Given the description of an element on the screen output the (x, y) to click on. 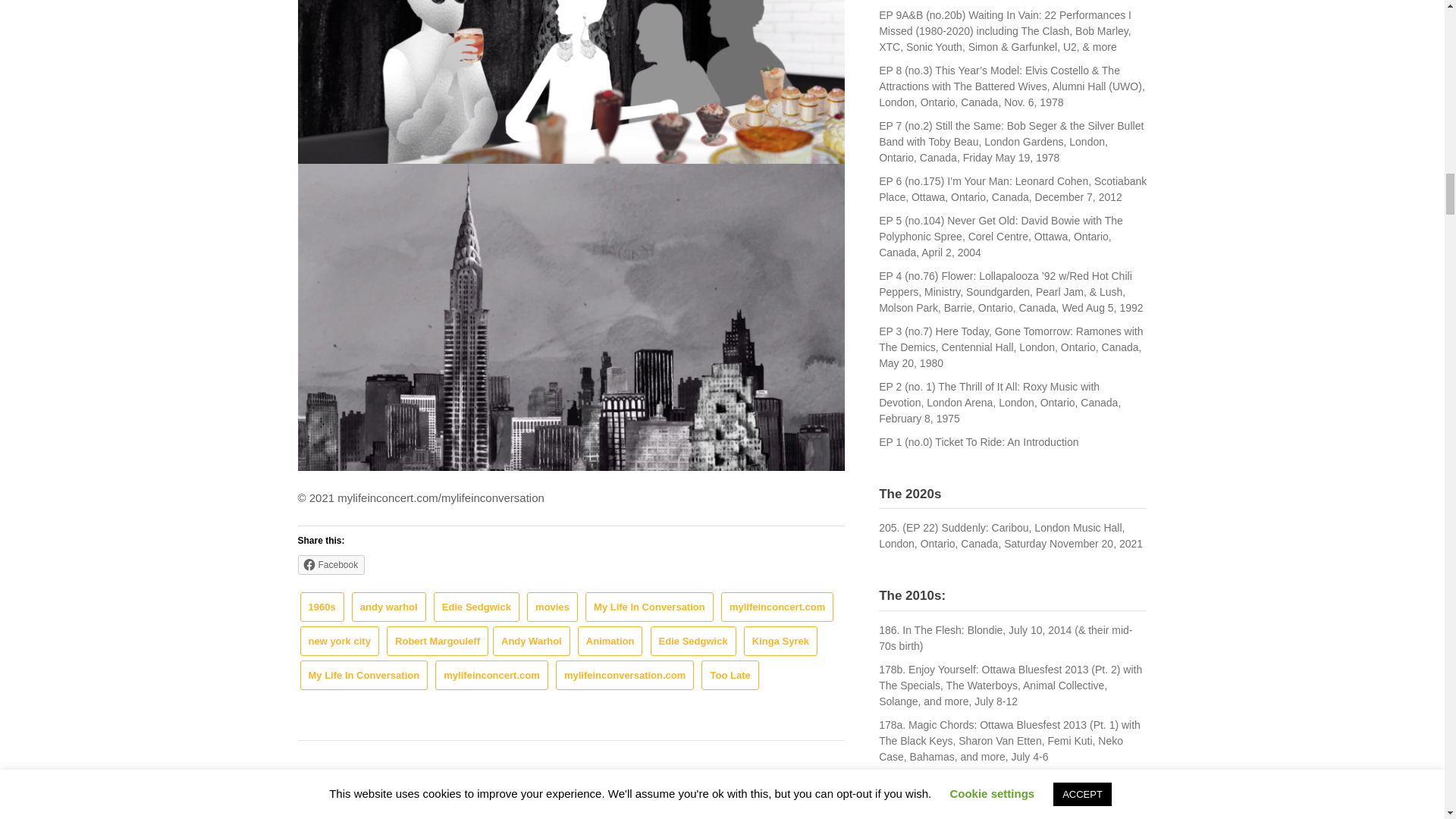
Andy Warhol (531, 641)
Edie Sedgwick (693, 641)
Animation (610, 641)
My Life In Conversation (363, 675)
mylifeinconcert.com (776, 606)
andy warhol (389, 606)
1960s (321, 606)
Facebook (331, 564)
new york city (338, 641)
Too Late (729, 675)
My Life In Conversation (649, 606)
Kinga Syrek (780, 641)
mylifeinconcert.com (491, 675)
Edie Sedgwick (476, 606)
mylifeinconversation.com (625, 675)
